Given the description of an element on the screen output the (x, y) to click on. 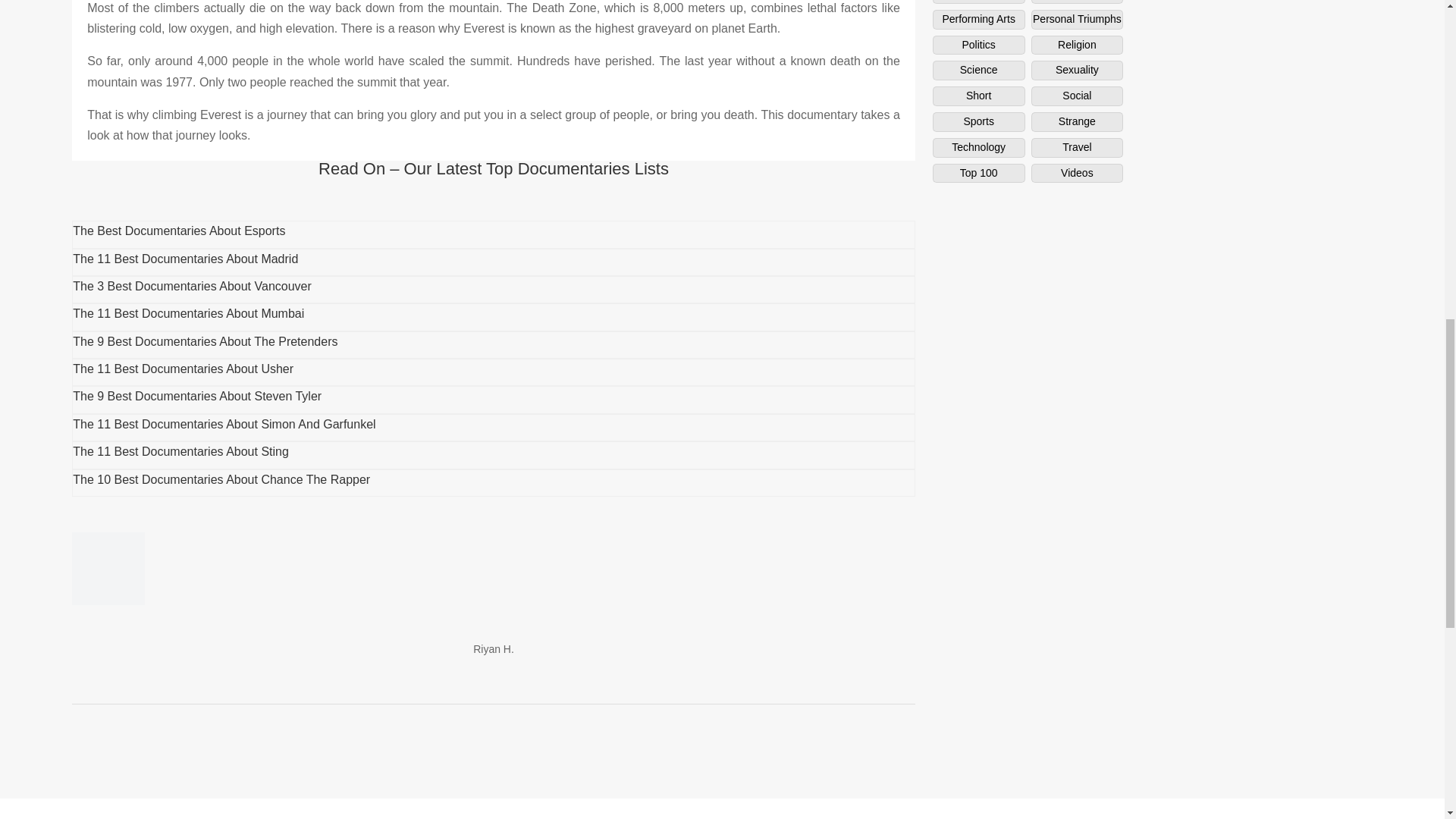
The 9 Best Documentaries About Steven Tyler (196, 396)
The Best Documentaries About Esports (178, 230)
The 11 Best Documentaries About Usher (183, 368)
The 11 Best Documentaries About Sting (180, 451)
The 10 Best Documentaries About Chance The Rapper (220, 479)
The 3 Best Documentaries About Vancouver (191, 286)
The 11 Best Documentaries About Madrid (185, 258)
The 11 Best Documentaries About Mumbai (188, 314)
The 11 Best Documentaries About Simon And Garfunkel (223, 423)
The 9 Best Documentaries About The Pretenders (204, 341)
